Given the description of an element on the screen output the (x, y) to click on. 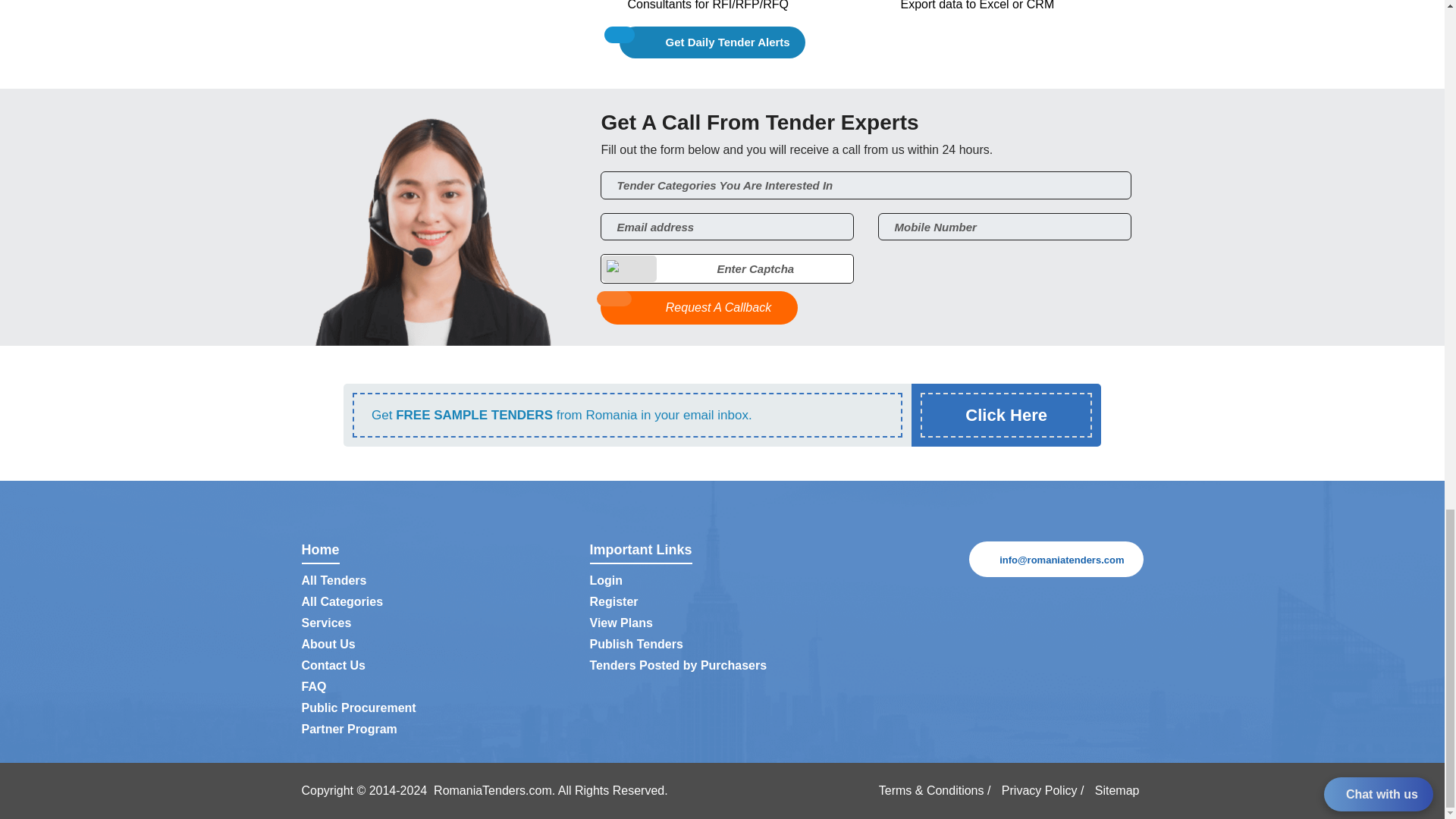
Request A Callback (698, 307)
Click Here (1006, 415)
Get Daily Tender Alerts (712, 42)
